Given the description of an element on the screen output the (x, y) to click on. 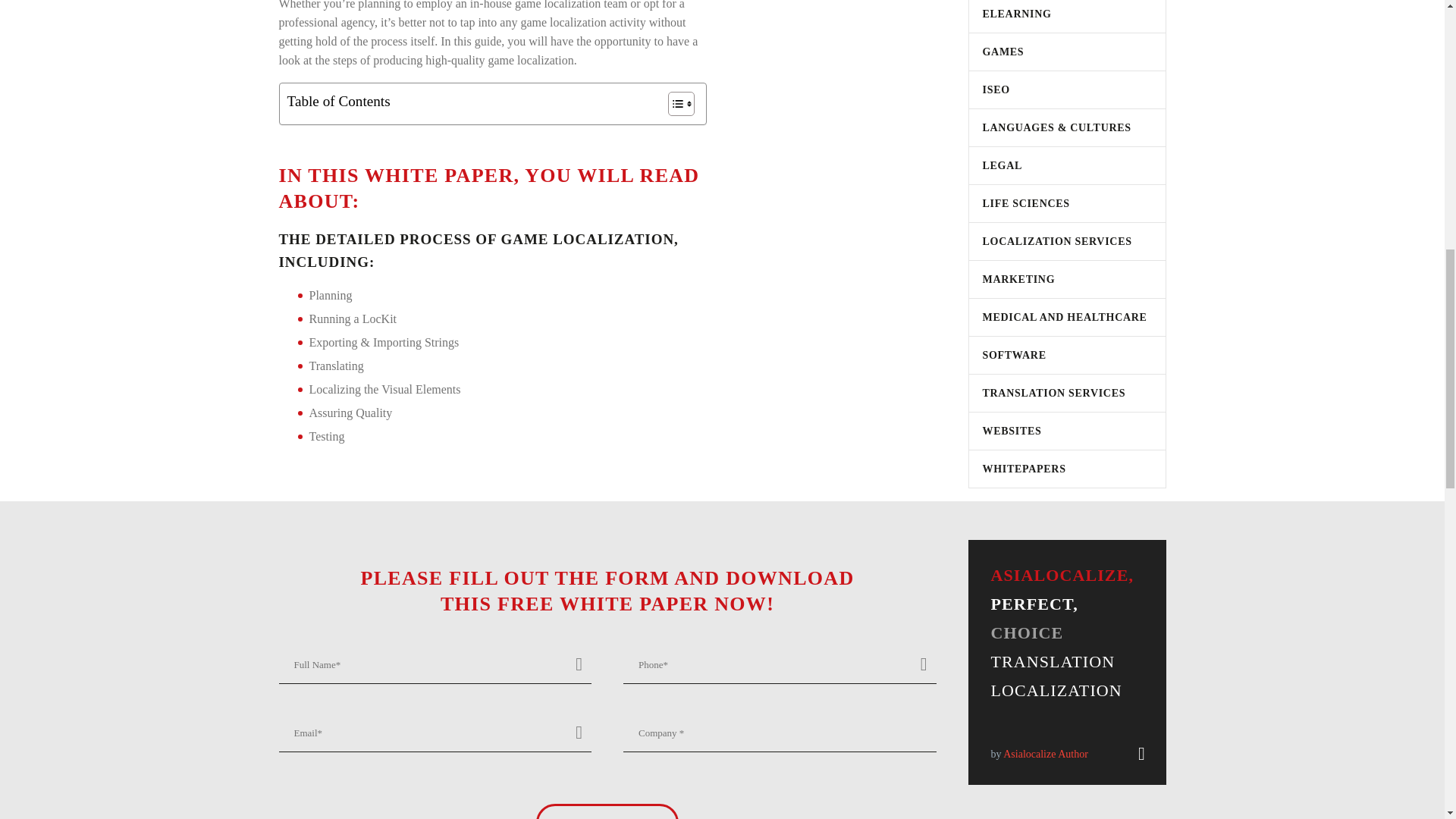
Download Now (607, 811)
WEBSITES (1005, 430)
ISEO (989, 89)
MARKETING (1012, 279)
LOCALIZATION SERVICES (1050, 241)
Asialocalize Author (1045, 754)
TRANSLATION SERVICES (1047, 392)
ELEARNING (1010, 13)
LIFE SCIENCES (1019, 203)
LEGAL (996, 165)
SOFTWARE (1007, 355)
WHITEPAPERS (1017, 469)
Download Now (607, 811)
MEDICAL AND HEALTHCARE (1058, 317)
GAMES (997, 51)
